Given the description of an element on the screen output the (x, y) to click on. 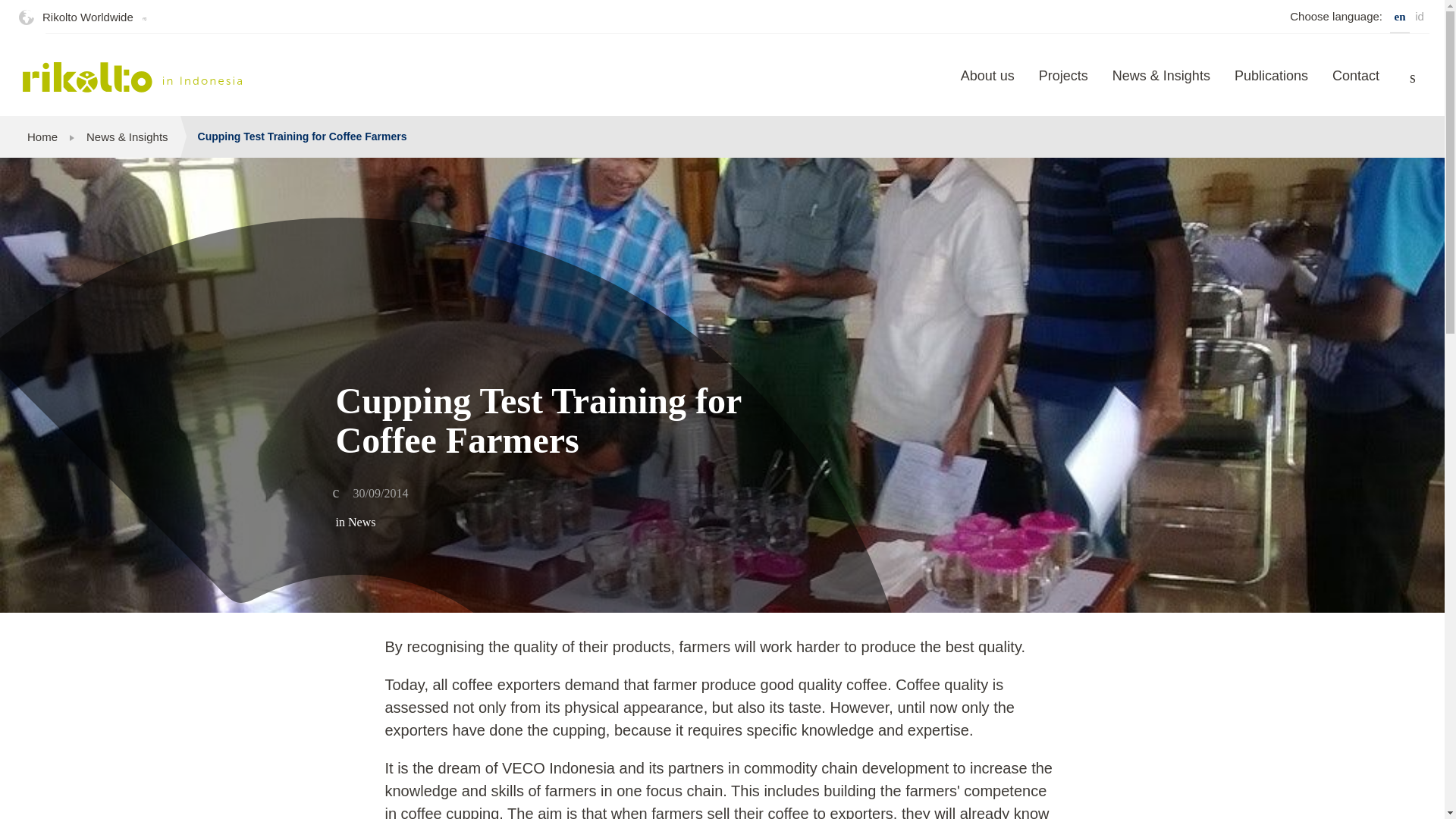
Projects (1063, 87)
Cupping Test Training for Coffee Farmers (302, 137)
Contact (1355, 87)
Current projects (1063, 87)
Publications (1271, 87)
s (1412, 77)
Vredeseilanden (133, 77)
s (1412, 77)
Home (41, 137)
Rikolto Worldwide (87, 17)
